Given the description of an element on the screen output the (x, y) to click on. 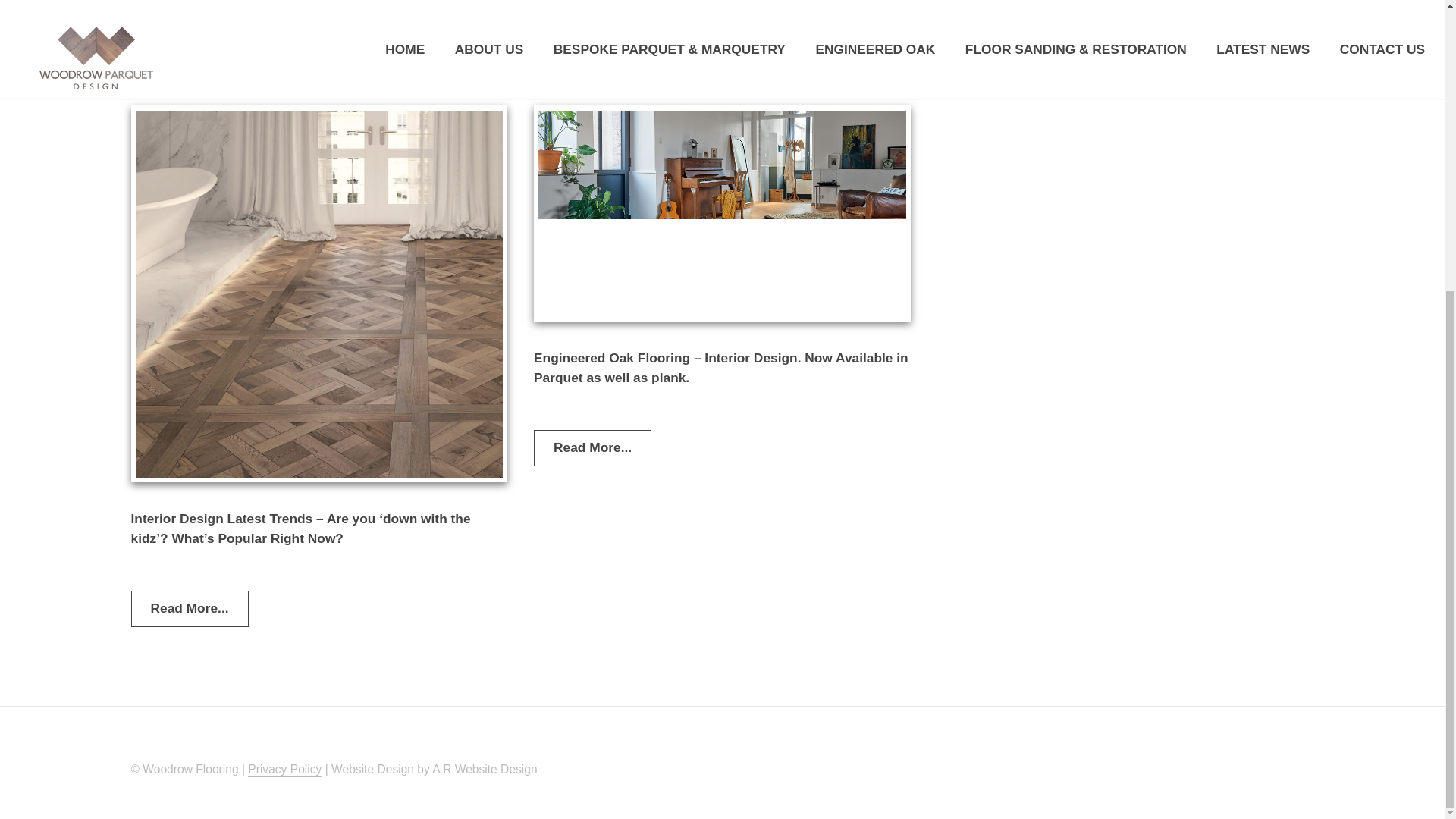
Read More... (592, 61)
Read More... (189, 608)
Read More... (995, 36)
Read More... (592, 447)
Privacy Policy (284, 769)
